Given the description of an element on the screen output the (x, y) to click on. 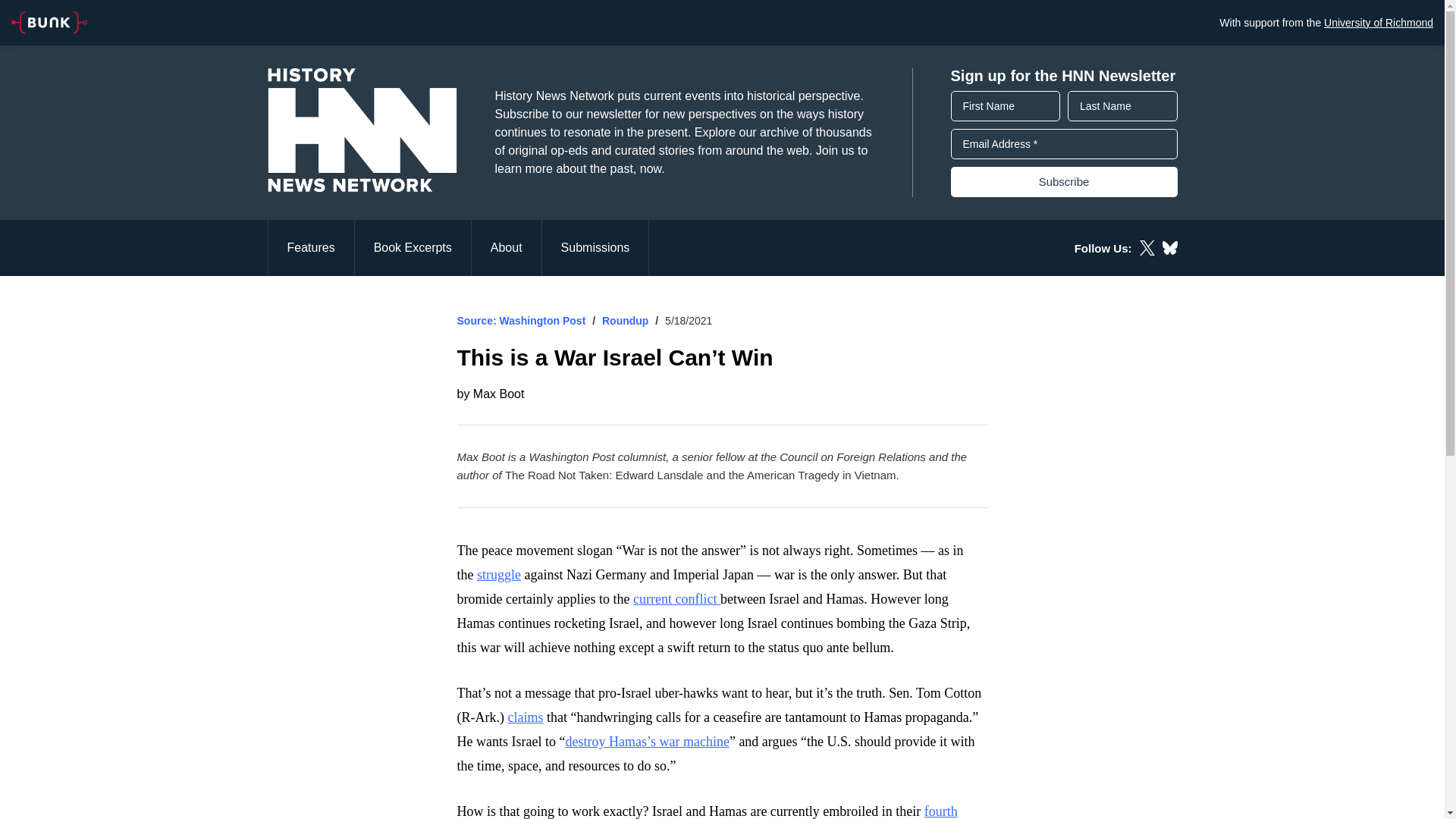
current conflict  (676, 598)
Subscribe (1063, 182)
Follow HNN on X, formerly Twitter (1146, 247)
Roundup (624, 320)
fourth major war (706, 811)
About (506, 248)
Follow HNN on Bluesky (1168, 247)
struggle (499, 574)
Source: Washington Post (521, 320)
claims (524, 717)
Submissions (595, 248)
Book Excerpts (413, 248)
University of Richmond (1377, 22)
Subscribe (1063, 182)
Features (309, 248)
